Given the description of an element on the screen output the (x, y) to click on. 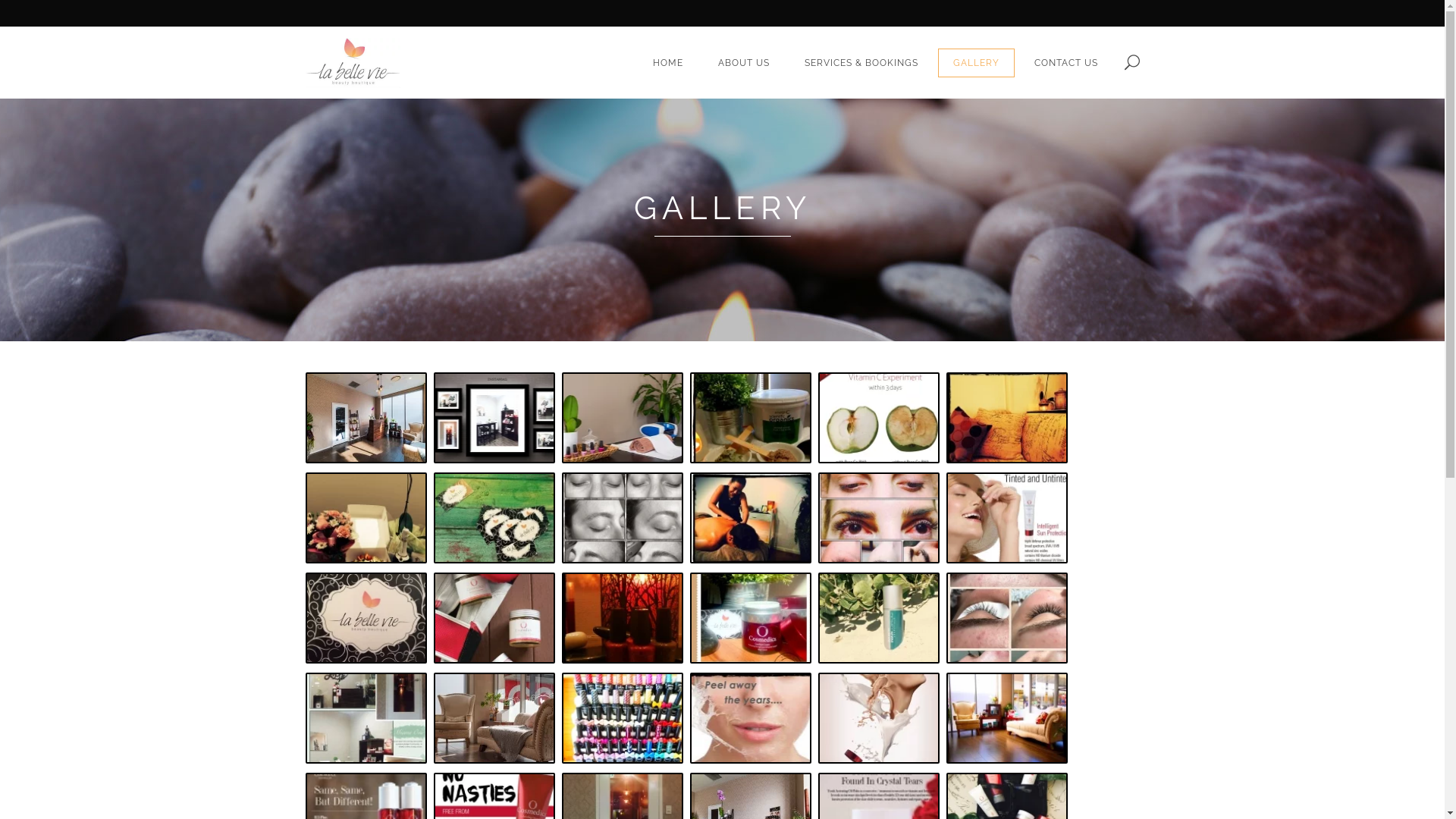
HOME Element type: text (667, 62)
CONTACT US Element type: text (1066, 62)
GALLERY Element type: text (975, 62)
ABOUT US Element type: text (743, 62)
SERVICES & BOOKINGS Element type: text (860, 62)
